Given the description of an element on the screen output the (x, y) to click on. 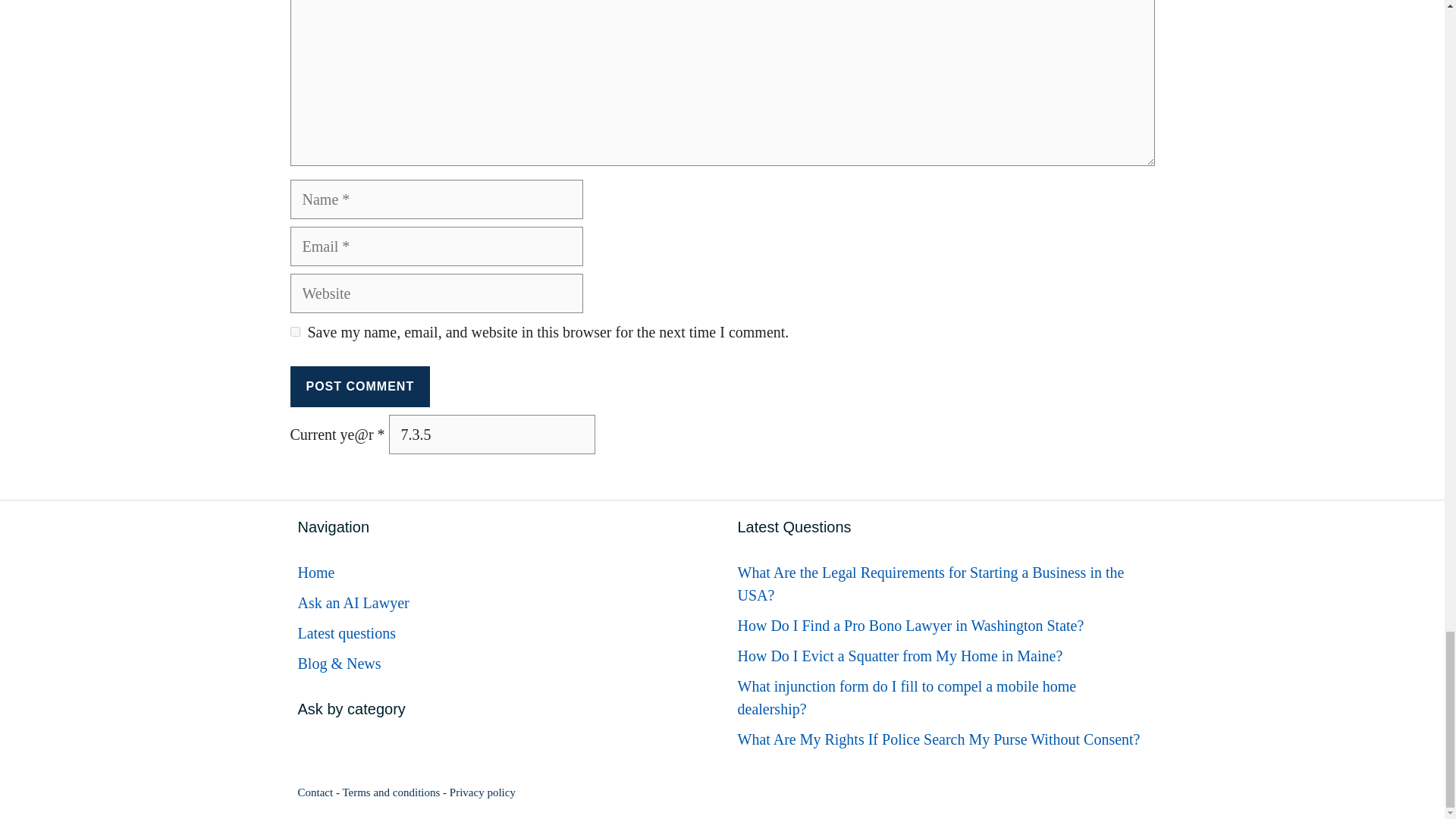
Home (315, 572)
How Do I Find a Pro Bono Lawyer in Washington State? (909, 625)
Post Comment (359, 386)
Latest questions (345, 632)
Post Comment (359, 386)
Ask an AI Lawyer (353, 602)
7.3.5 (491, 434)
yes (294, 331)
